Given the description of an element on the screen output the (x, y) to click on. 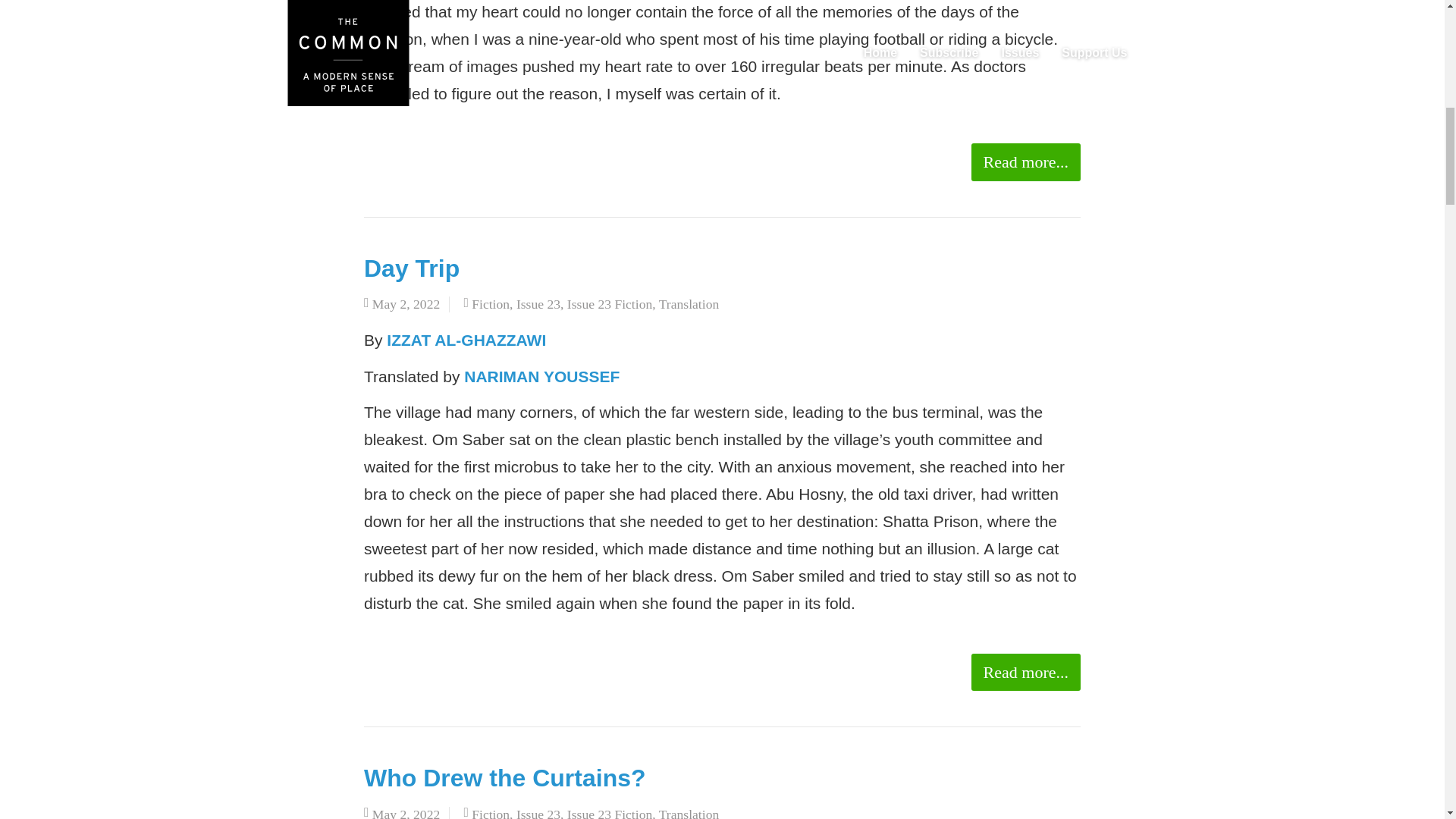
Read more... (1025, 672)
NARIMAN YOUSSEF (542, 375)
Issue 23 Fiction (609, 304)
Who Drew the Curtains? (505, 777)
Read more... (1025, 161)
Day Trip (412, 267)
Issue 23 (538, 304)
IZZAT AL-GHAZZAWI (466, 339)
Fiction (490, 304)
Translation (689, 304)
